Given the description of an element on the screen output the (x, y) to click on. 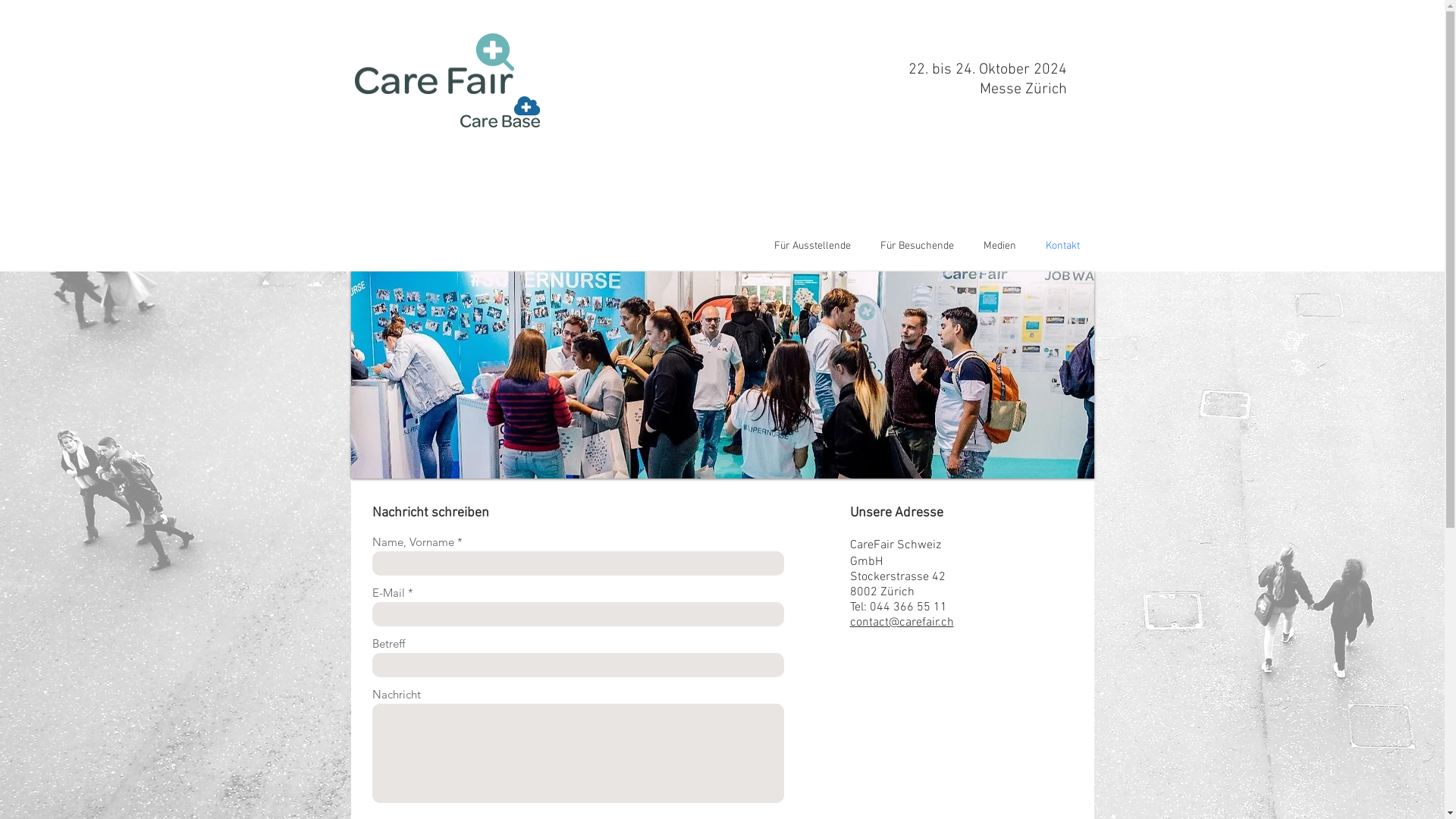
Kontakt Element type: text (1062, 245)
contact@carefair.ch Element type: text (901, 622)
Medien Element type: text (1000, 245)
Homepage: Care Base Element type: hover (499, 111)
